Given the description of an element on the screen output the (x, y) to click on. 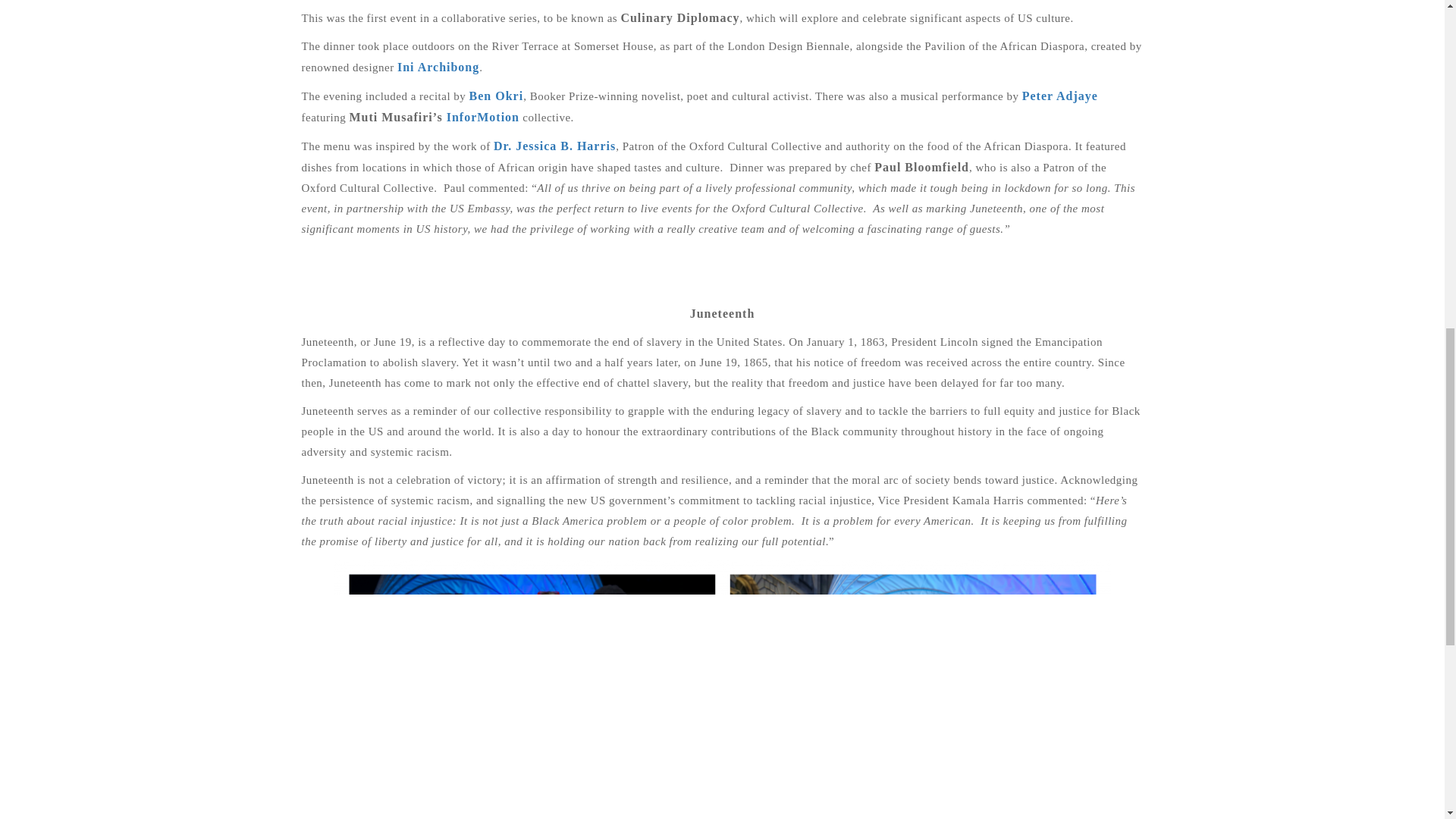
Peter Adjaye (1059, 95)
Dr. Jessica B. Harris (554, 146)
Ben Okri (496, 96)
InforMotion (482, 116)
Ini Archibong (438, 67)
